Given the description of an element on the screen output the (x, y) to click on. 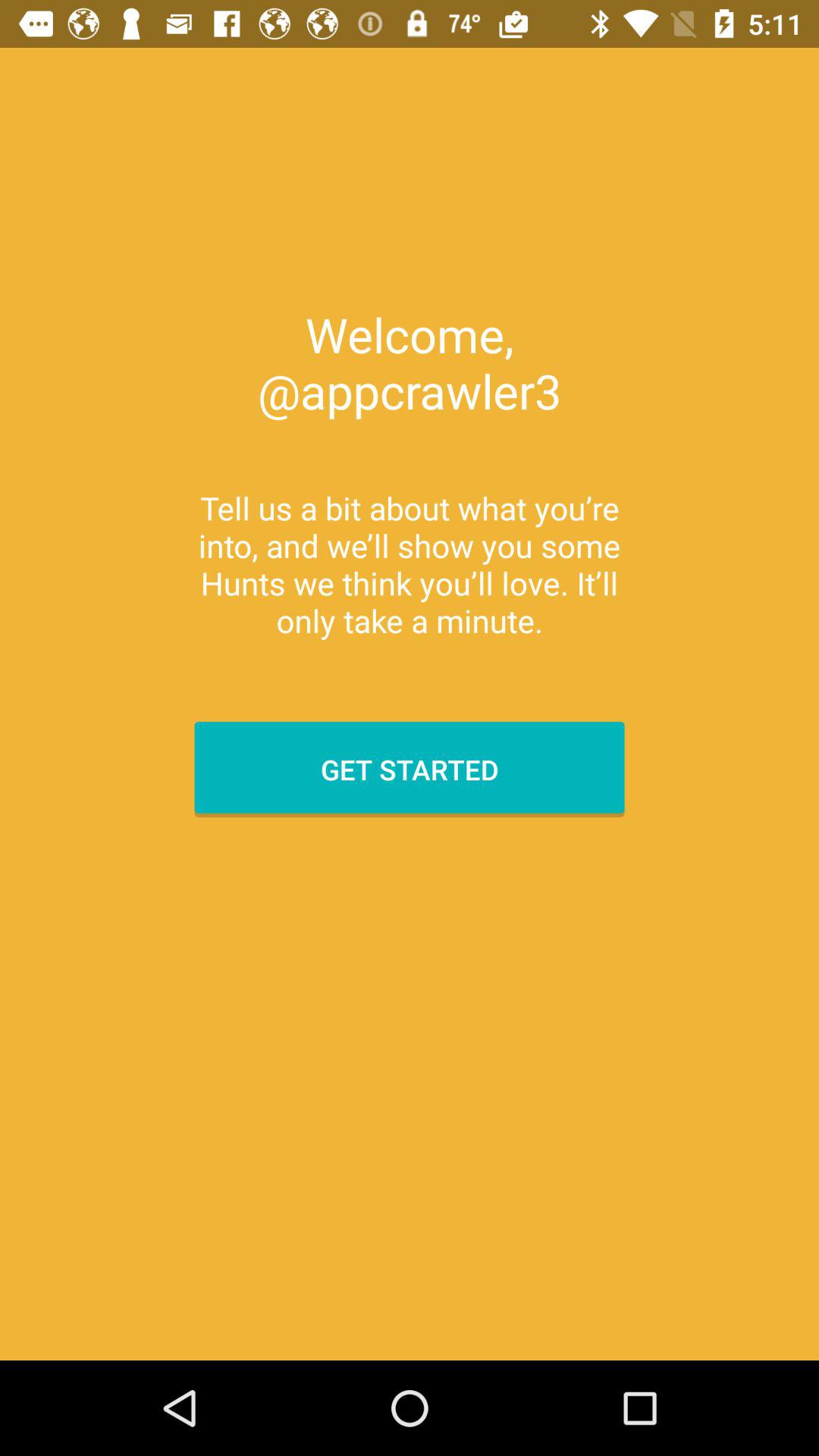
press get started (409, 769)
